Given the description of an element on the screen output the (x, y) to click on. 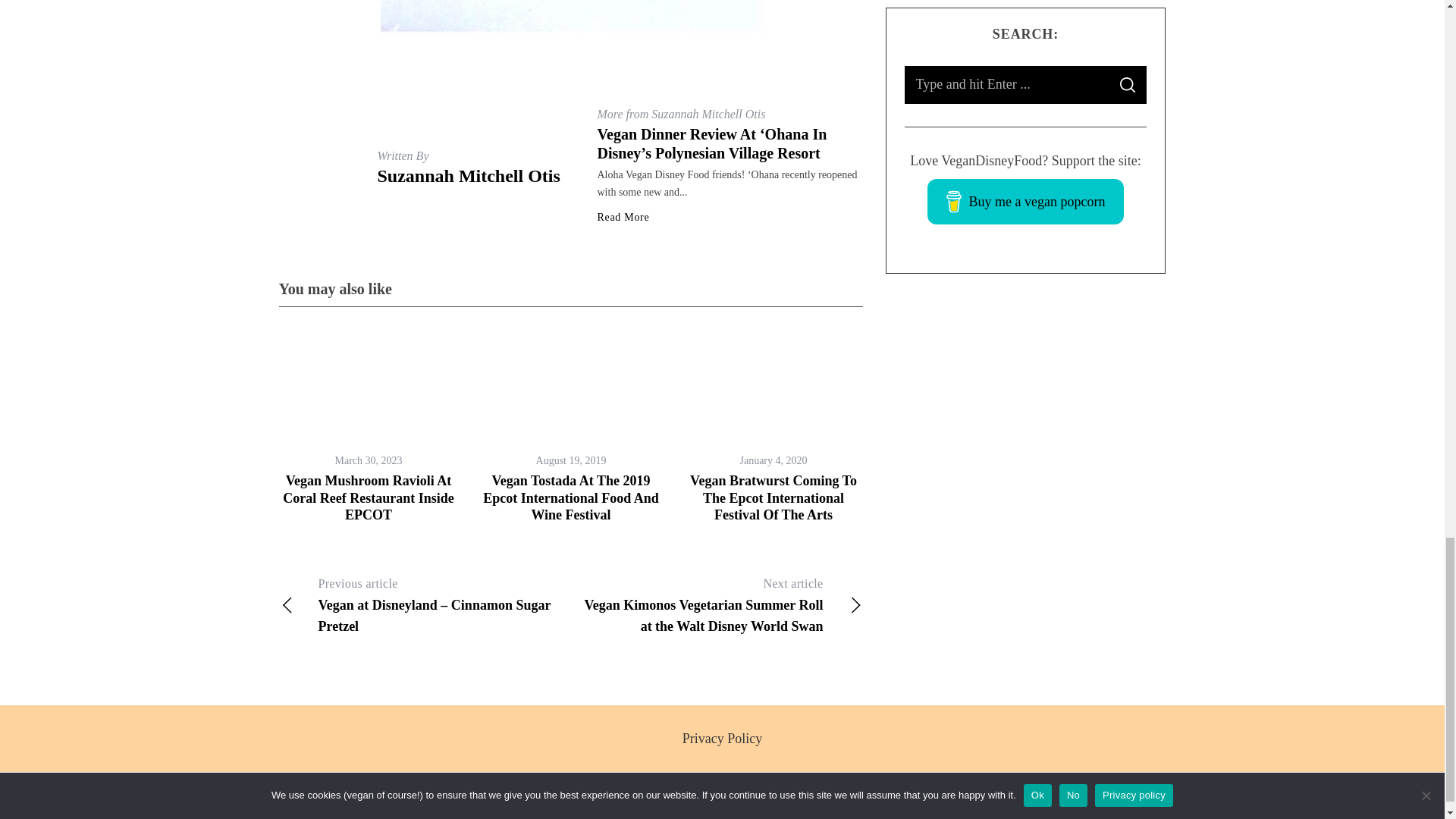
Read More (622, 217)
Suzannah Mitchell Otis (468, 175)
Vegan Mushroom Ravioli At Coral Reef Restaurant Inside EPCOT (367, 497)
